Given the description of an element on the screen output the (x, y) to click on. 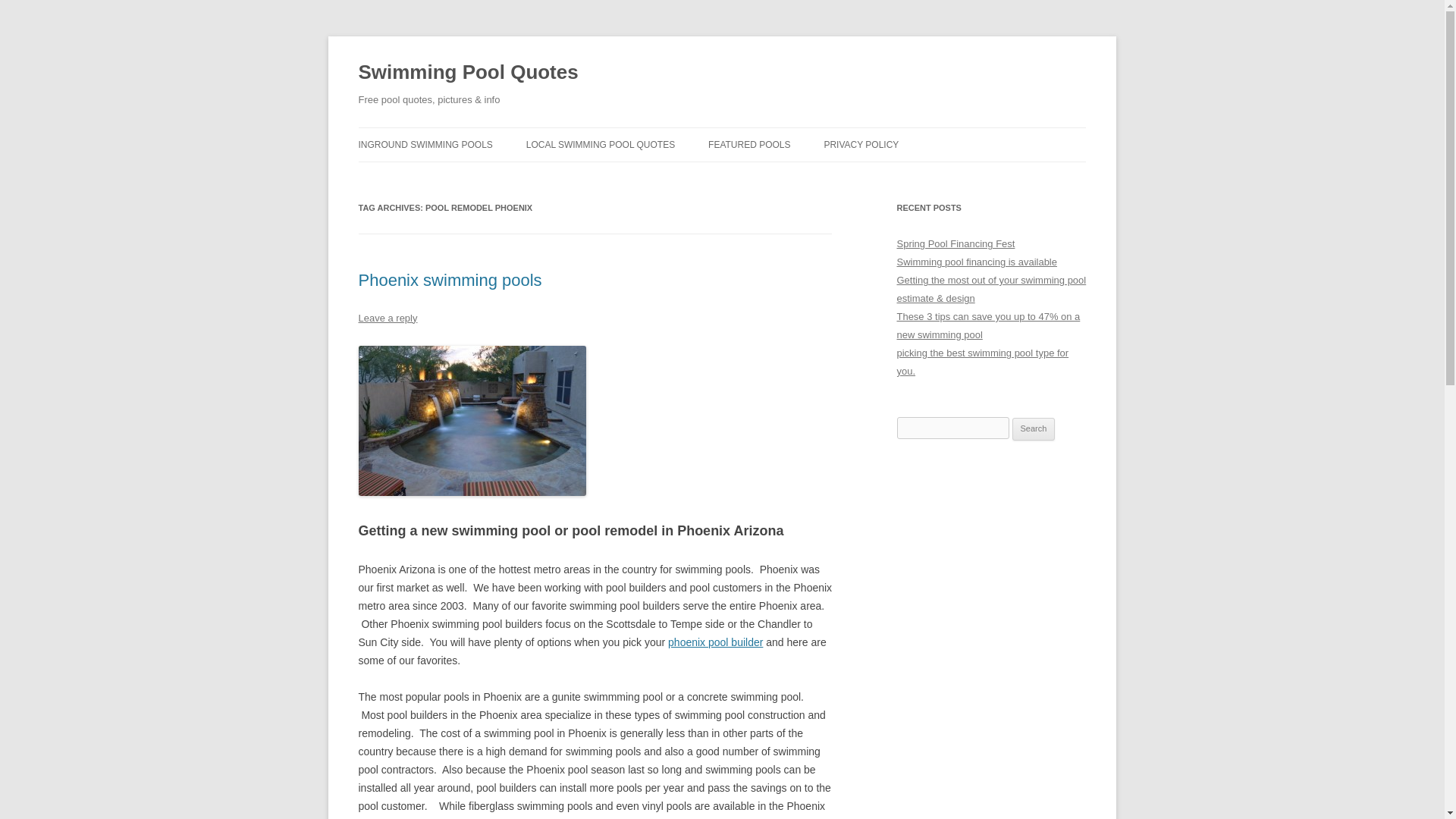
Phoenix pool builder (715, 642)
INGROUND SWIMMING POOLS (425, 144)
Swimming Pool Quotes (468, 72)
LOCAL SWIMMING POOL QUOTES (600, 144)
ARIZONA SWIMMING POOLS (601, 176)
Search (1033, 428)
CONCRETE IN GROUND POOL (433, 176)
